Given the description of an element on the screen output the (x, y) to click on. 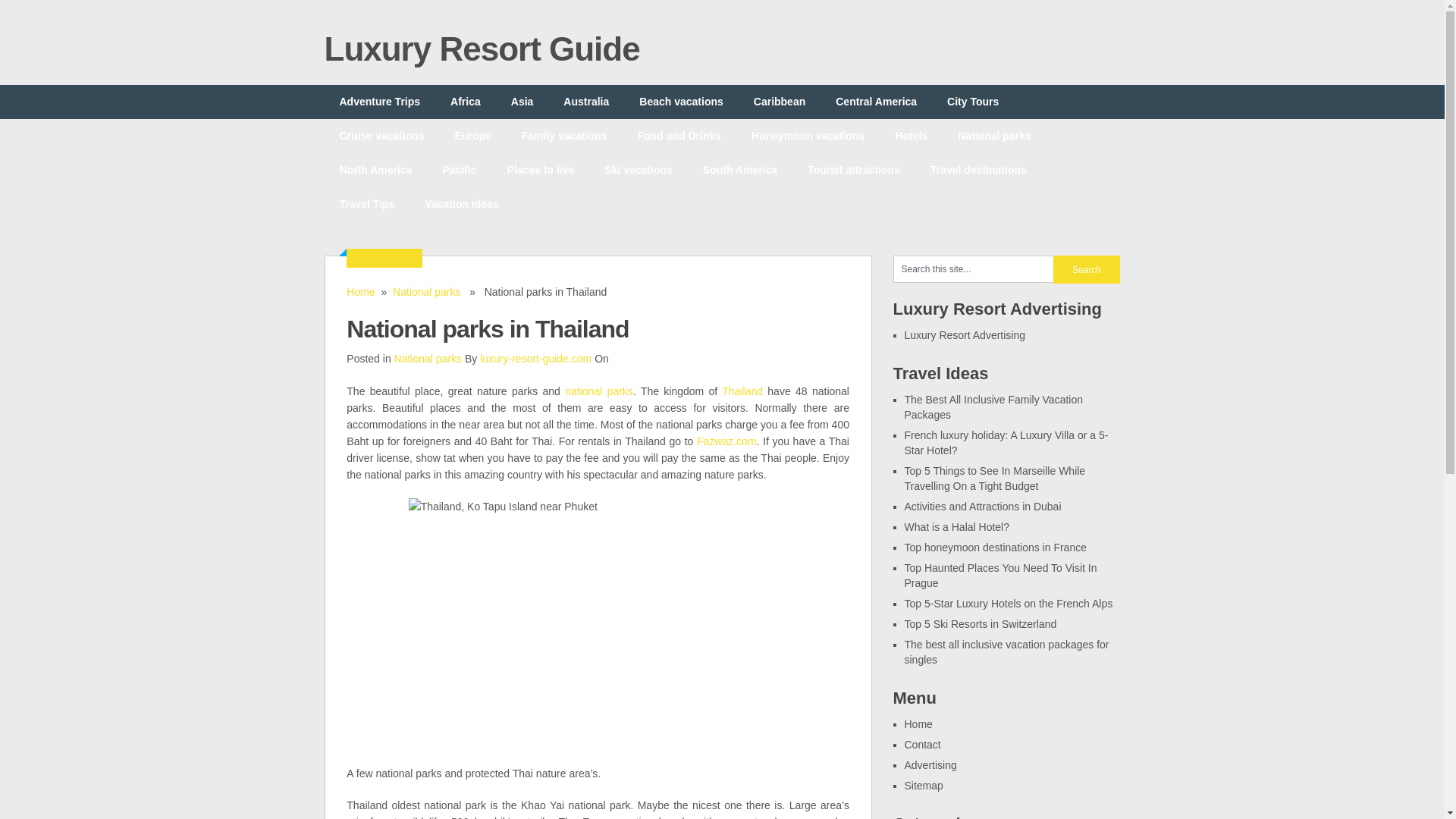
Cruise vacations (381, 135)
Central America (876, 101)
Caribbean (779, 101)
Pacific (459, 170)
Travel Tips (367, 204)
French luxury holiday: A Luxury Villa or a 5-Star Hotel? (1006, 442)
Travel destinations (978, 170)
Europe (472, 135)
national parks (598, 390)
Family vacations (564, 135)
Luxury Resort Advertising (964, 335)
National parks (427, 291)
Asia (522, 101)
South America (739, 170)
North America (376, 170)
